Given the description of an element on the screen output the (x, y) to click on. 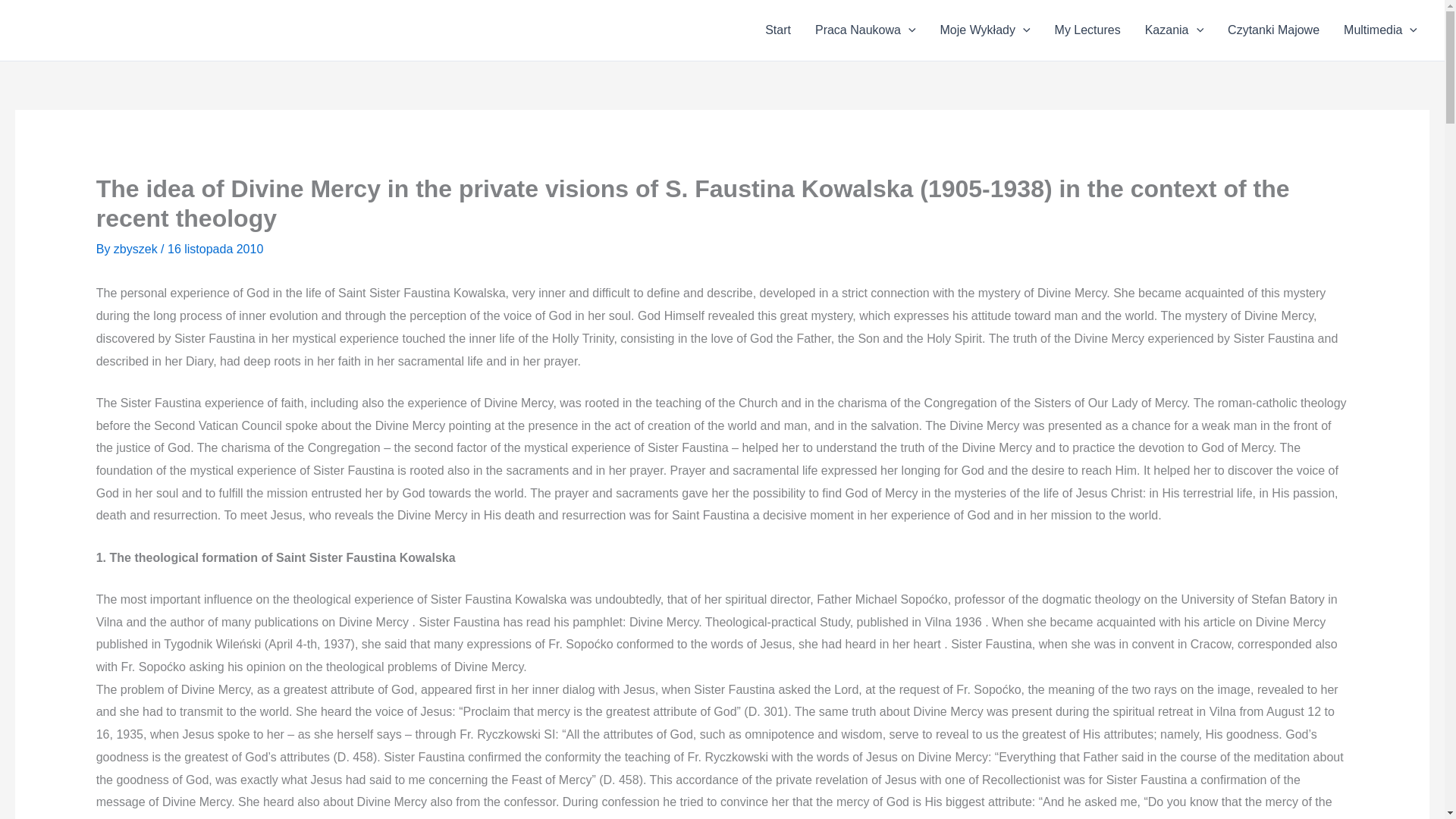
Czytanki Majowe (1273, 30)
My Lectures (1087, 30)
Kazania (1173, 30)
zbyszek (136, 248)
View all posts by zbyszek (136, 248)
Multimedia (1380, 30)
Praca Naukowa (865, 30)
